Given the description of an element on the screen output the (x, y) to click on. 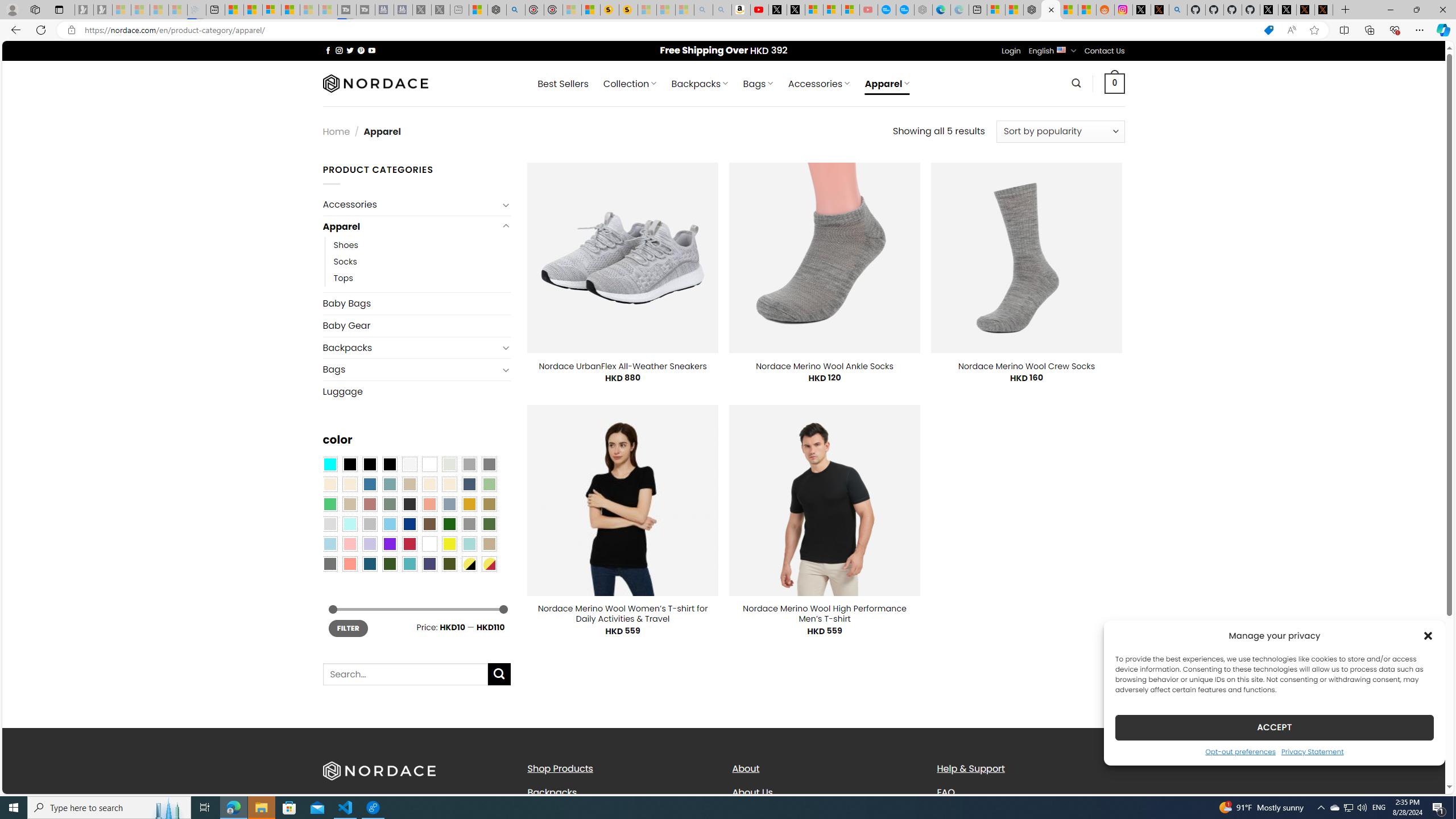
Charcoal (408, 503)
Privacy Statement (1312, 750)
English (1061, 49)
Sage (389, 503)
Sky Blue (389, 523)
Shoes (422, 245)
White (429, 543)
Coral (429, 503)
Forest (389, 563)
